Given the description of an element on the screen output the (x, y) to click on. 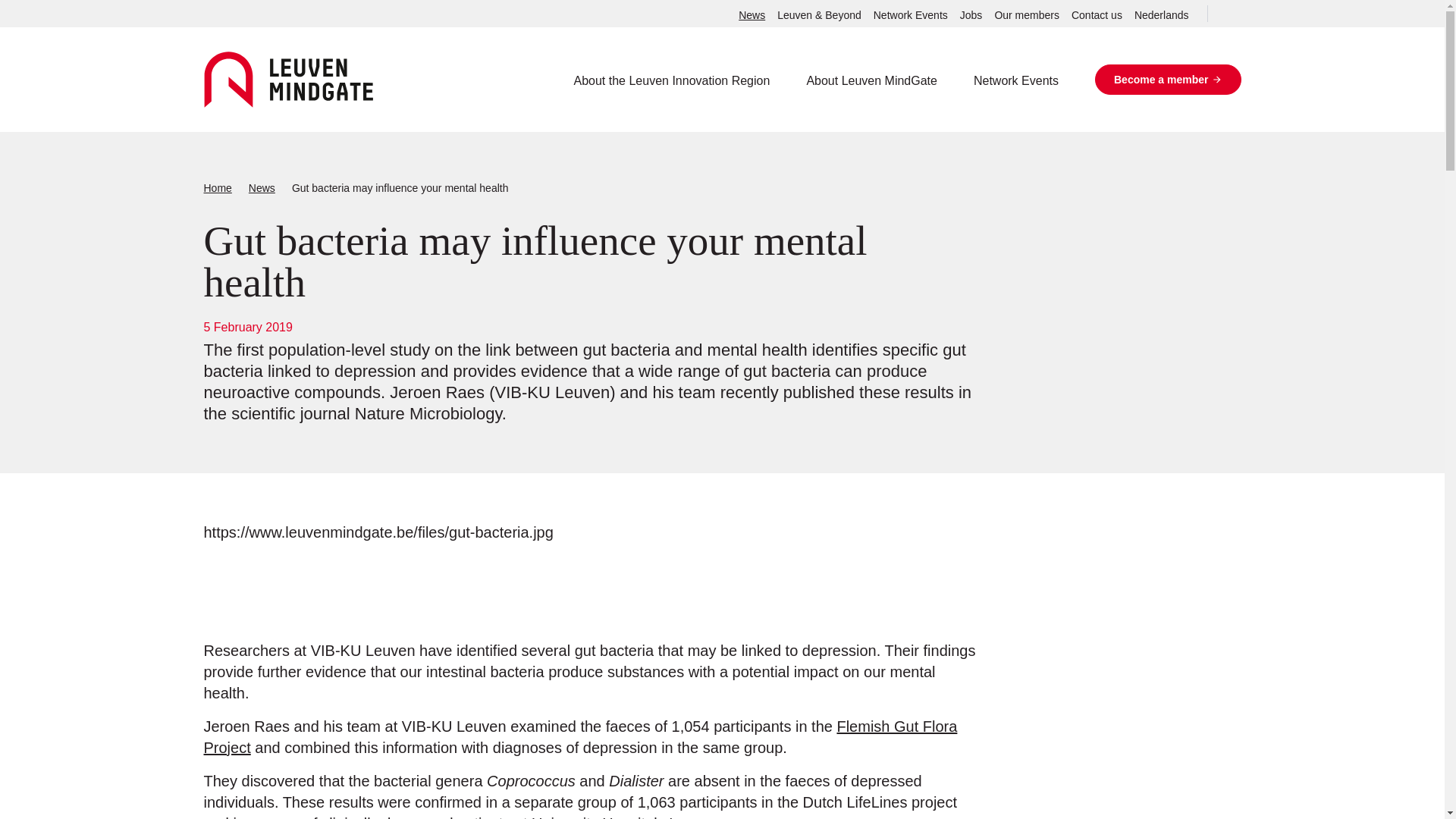
Nederlands (1161, 15)
Gut bacteria may influence your mental health (400, 187)
Contact us (1096, 15)
Become a member (1167, 79)
Jobs (970, 15)
Flemish Gut Flora Project (579, 736)
About the Leuven Innovation Region (671, 80)
Search (1224, 13)
News (261, 187)
About Leuven MindGate (871, 80)
Our members (1026, 15)
Home (217, 187)
Network Events (1016, 80)
News (751, 15)
Network Events (910, 15)
